Given the description of an element on the screen output the (x, y) to click on. 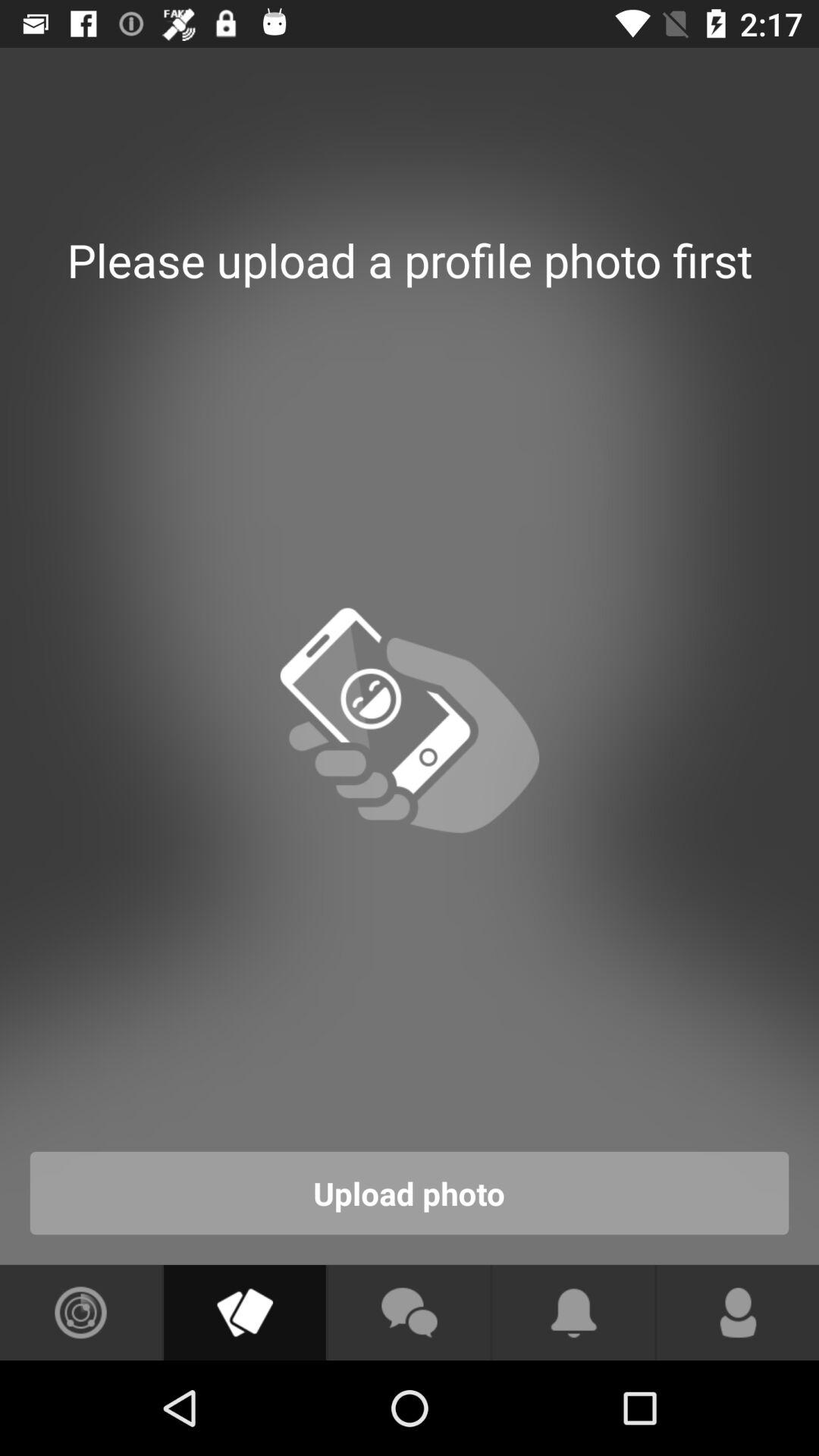
go to call added (737, 1312)
